Given the description of an element on the screen output the (x, y) to click on. 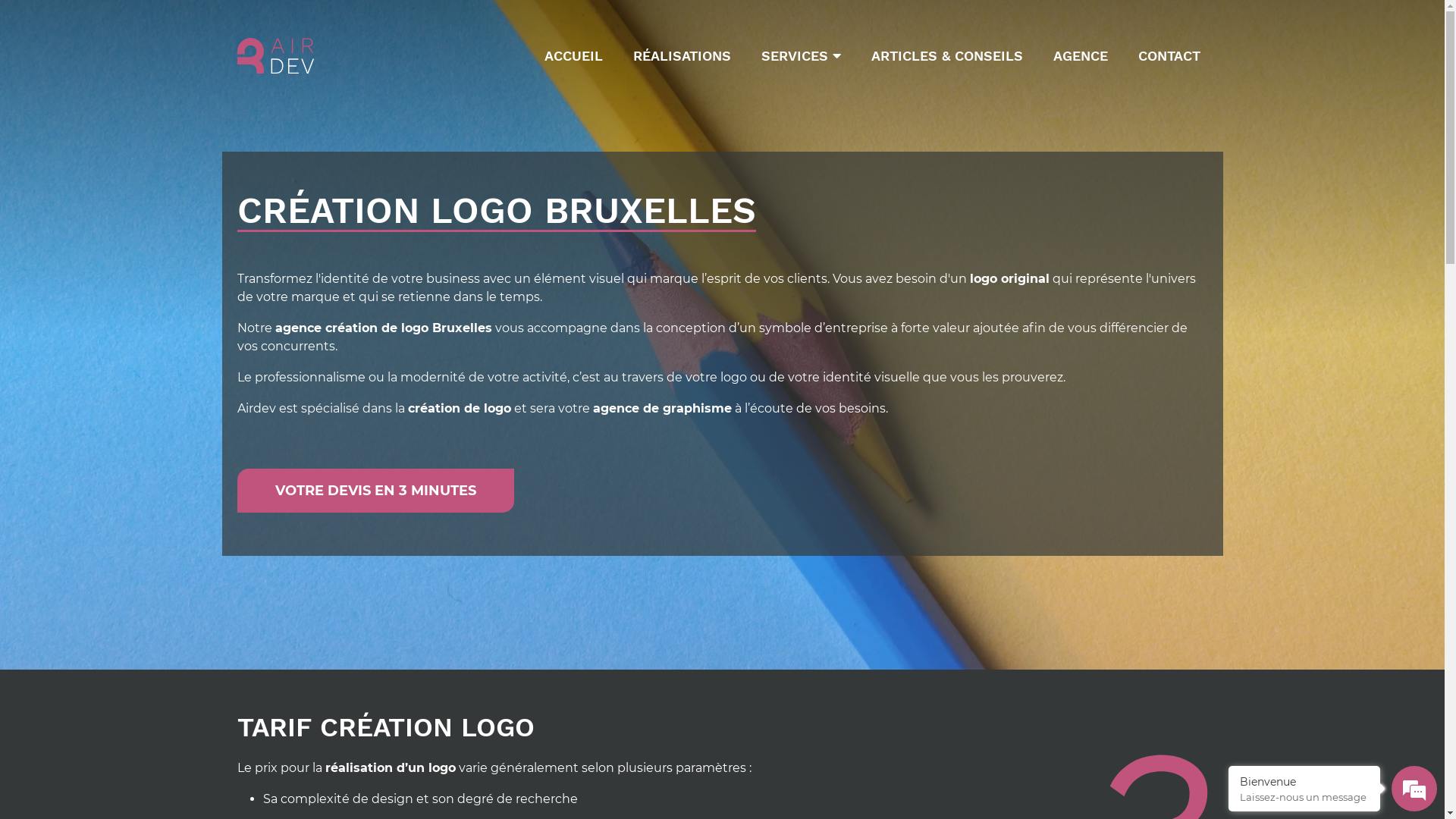
AGENCE Element type: text (1079, 55)
ARTICLES & CONSEILS Element type: text (945, 55)
CONTACT Element type: text (1168, 55)
SERVICES Element type: text (800, 55)
VOTRE DEVIS EN 3 MINUTES Element type: text (374, 490)
ACCUEIL Element type: text (573, 55)
